Given the description of an element on the screen output the (x, y) to click on. 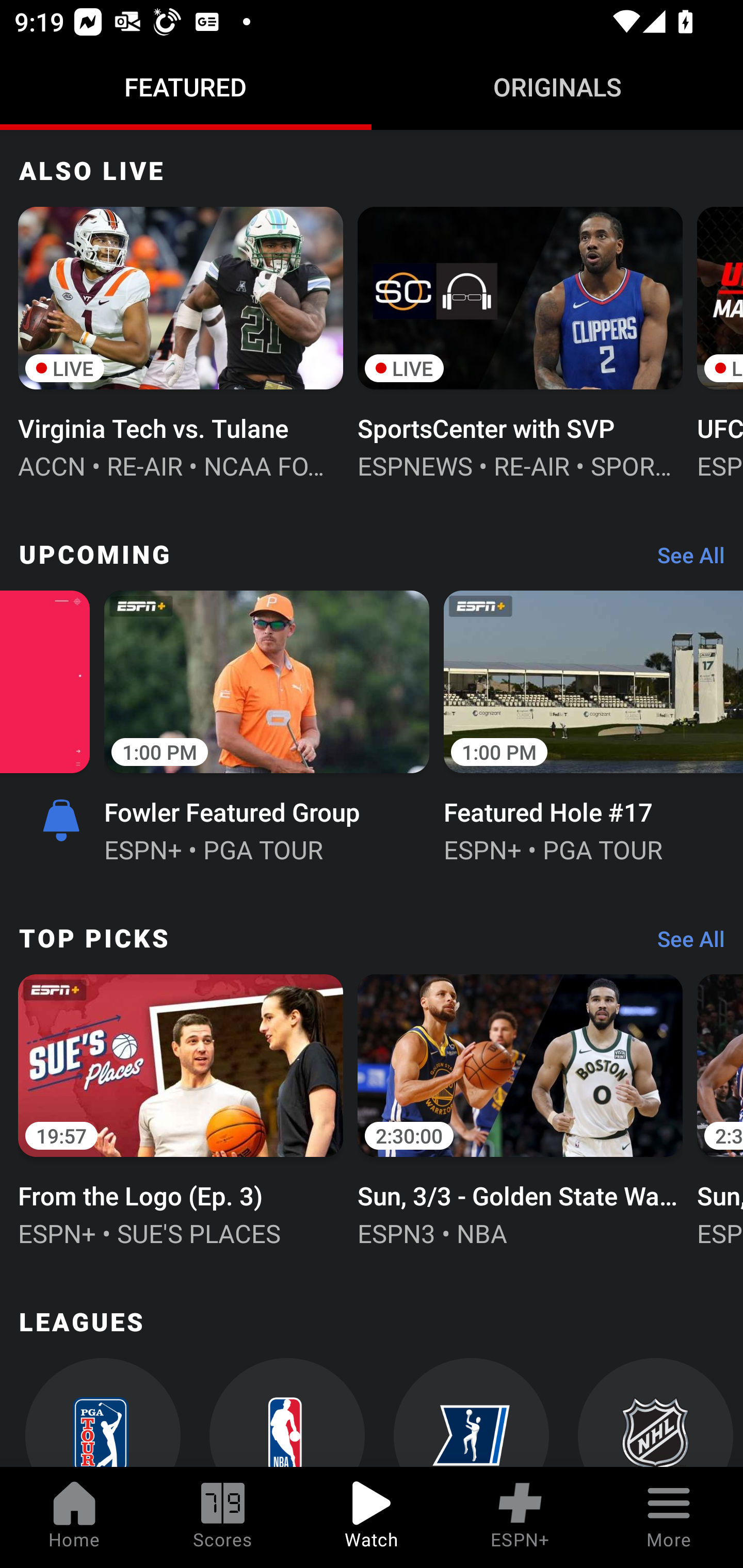
Originals ORIGINALS (557, 86)
See All (683, 559)
1:00 PM Fowler Featured Group ESPN+ • PGA TOUR (266, 725)
1:00 PM Featured Hole #17 ESPN+ • PGA TOUR (593, 725)
See All (683, 943)
19:57 From the Logo (Ep. 3) ESPN+ • SUE'S PLACES (180, 1108)
Home (74, 1517)
Scores (222, 1517)
ESPN+ (519, 1517)
More (668, 1517)
